Given the description of an element on the screen output the (x, y) to click on. 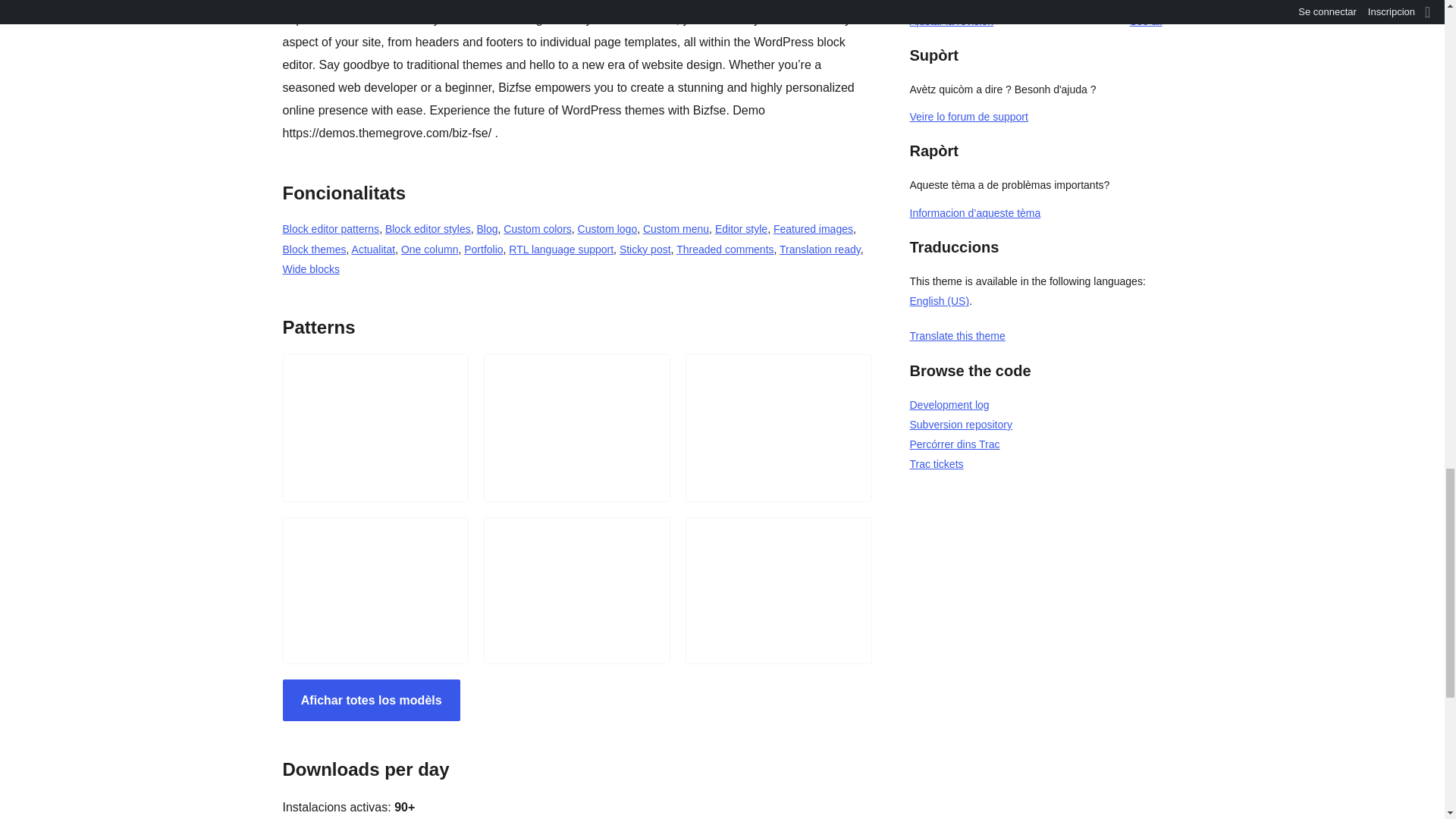
Block editor patterns (330, 228)
Custom logo (607, 228)
Custom colors (536, 228)
Block editor styles (427, 228)
Blog (487, 228)
